Given the description of an element on the screen output the (x, y) to click on. 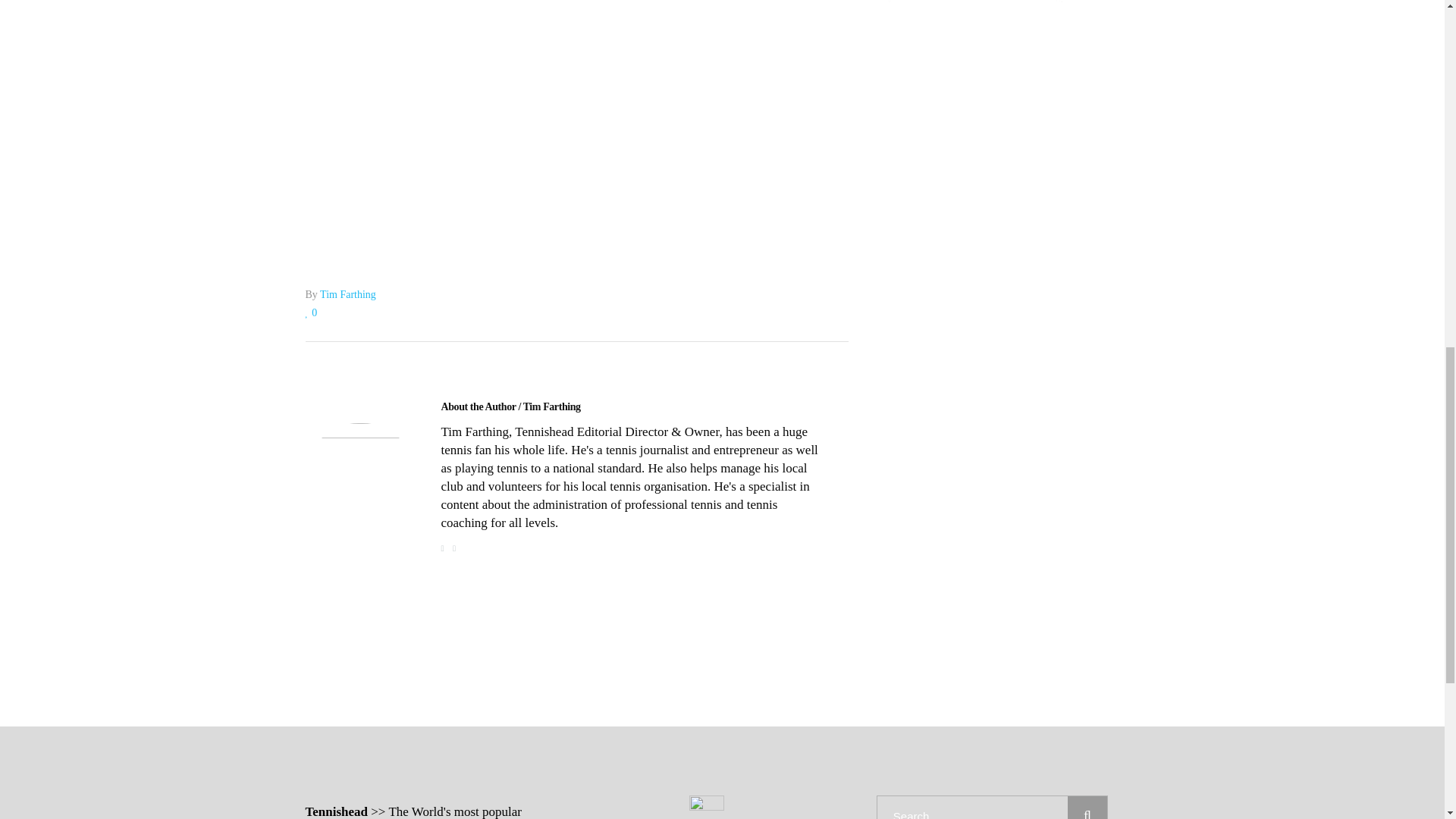
Like this (310, 312)
TNNS Live Scores (576, 163)
Search for: (972, 807)
